Given the description of an element on the screen output the (x, y) to click on. 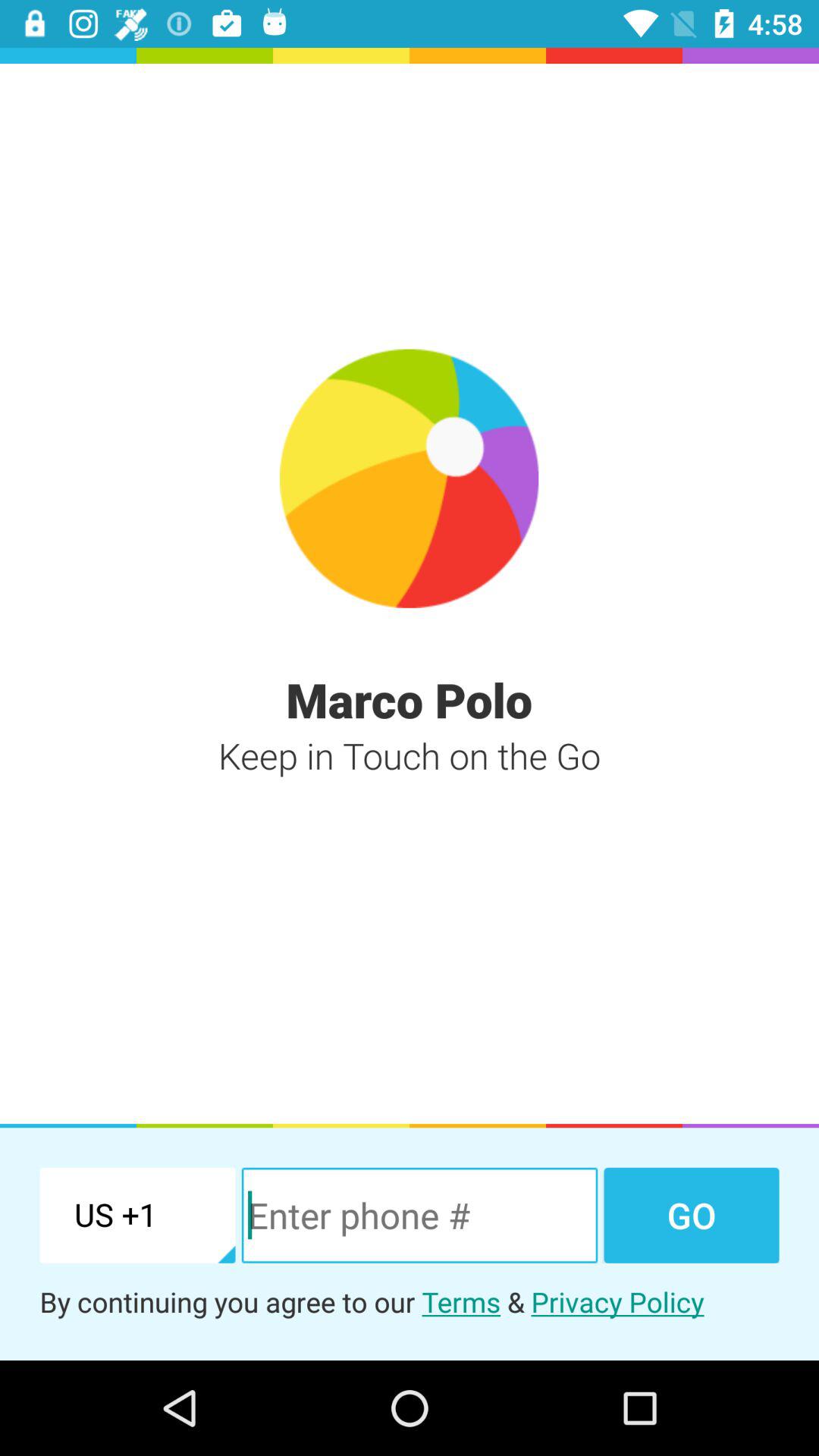
tap icon above by continuing you icon (419, 1215)
